Given the description of an element on the screen output the (x, y) to click on. 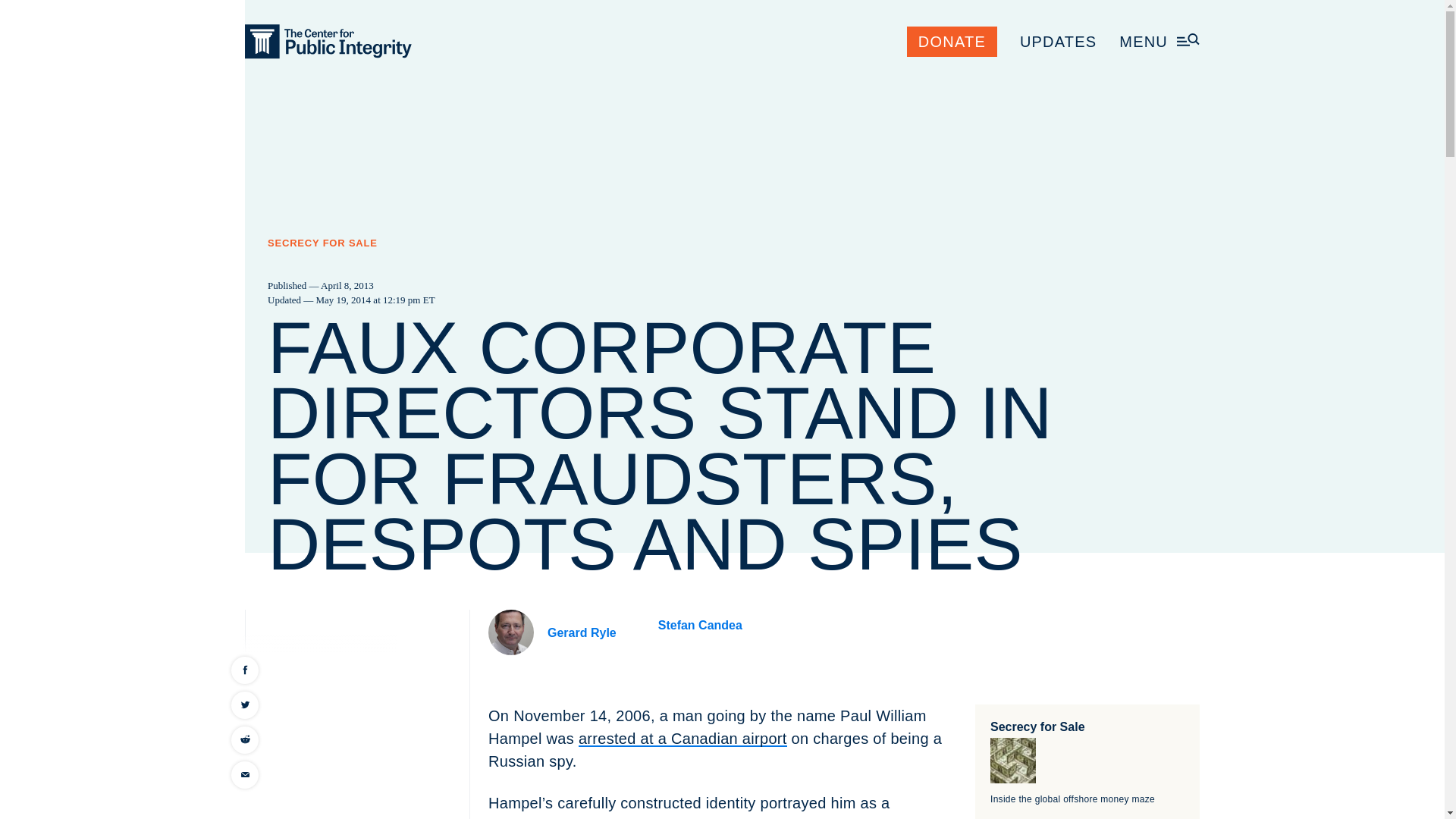
Stefan Candea (700, 625)
Gerard Ryle (581, 632)
Secrecy for Sale (1037, 726)
MENU (1159, 41)
DONATE (952, 41)
UPDATES (1058, 41)
Secrecy for Sale (1037, 726)
SECRECY FOR SALE (322, 243)
